Given the description of an element on the screen output the (x, y) to click on. 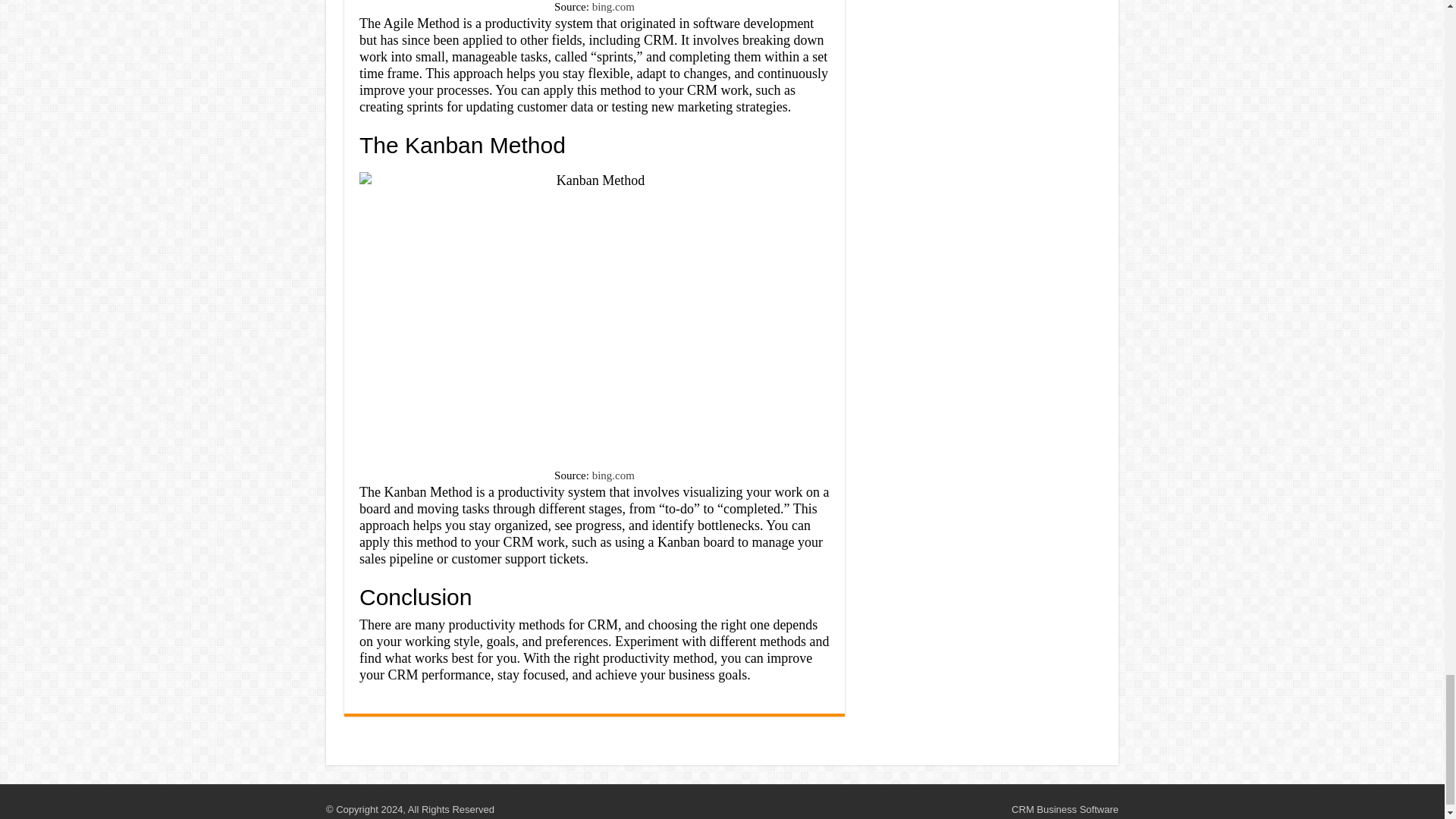
bing.com (613, 6)
